Given the description of an element on the screen output the (x, y) to click on. 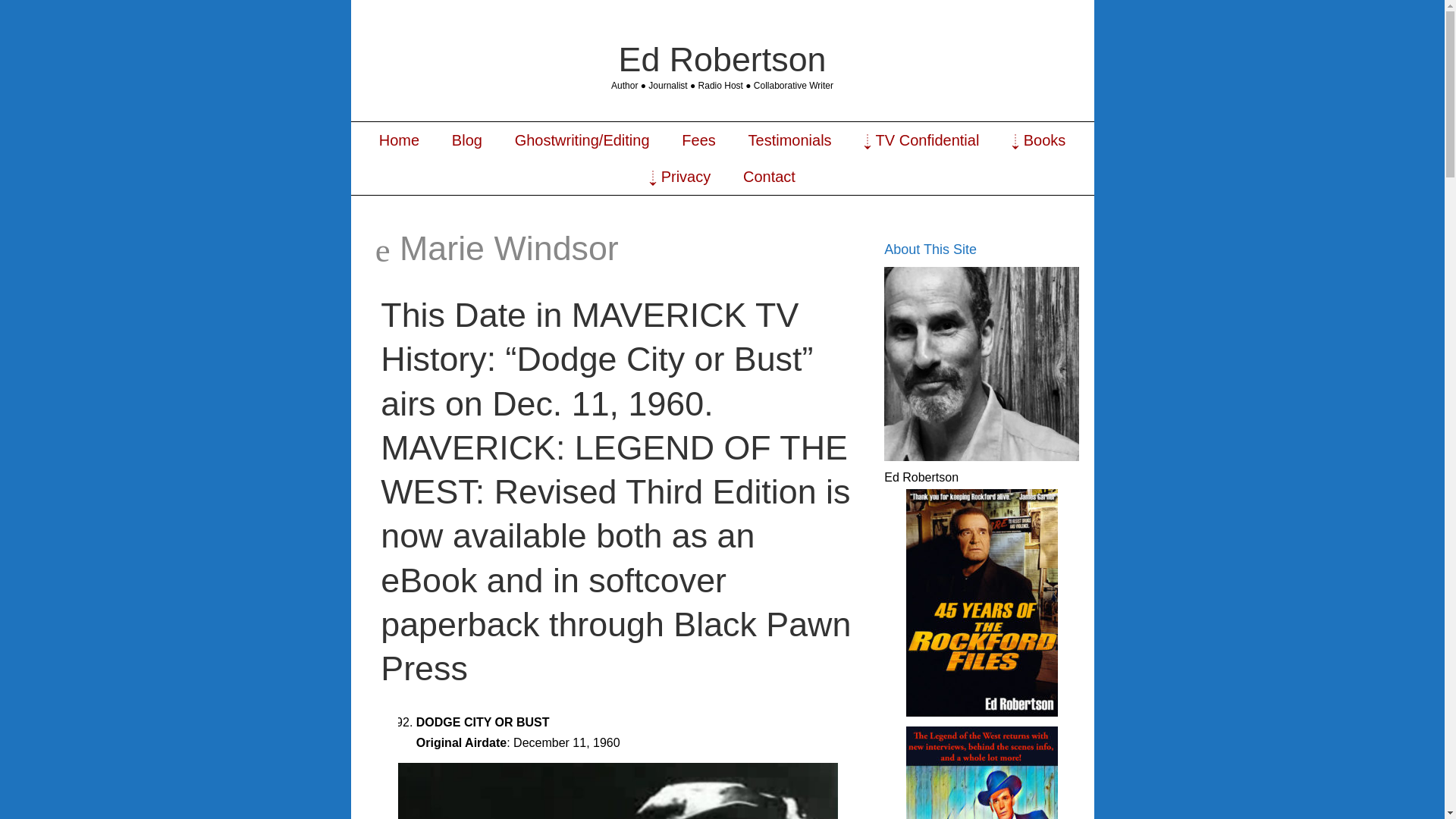
Blog (466, 140)
Contact (768, 176)
Home (398, 140)
Fees (697, 140)
Testimonials (789, 140)
Ed Robertson (722, 58)
